Given the description of an element on the screen output the (x, y) to click on. 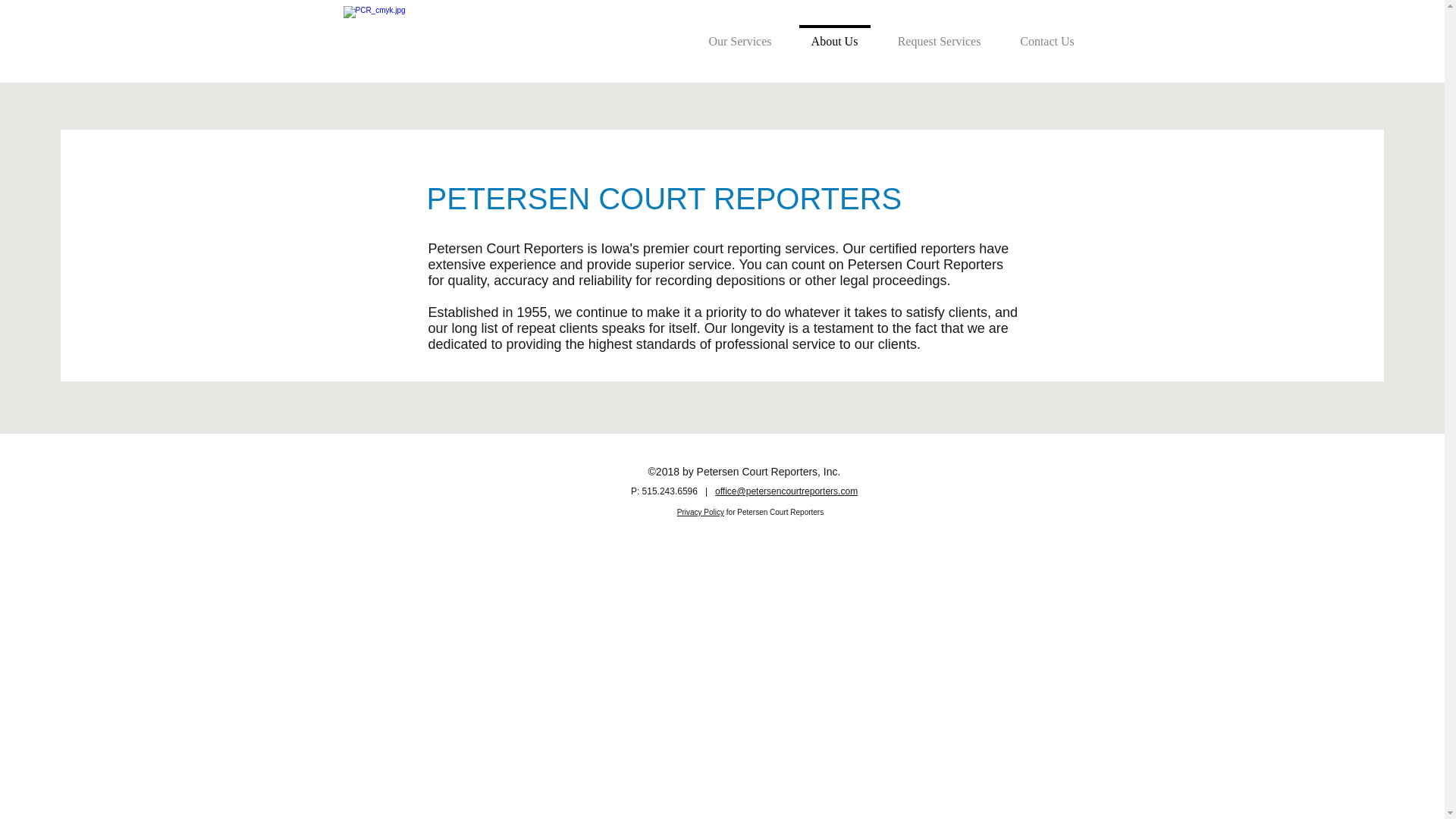
Contact Us (1047, 34)
Our Services (739, 34)
Privacy Policy (700, 511)
Request Services (939, 34)
About Us (834, 34)
